Given the description of an element on the screen output the (x, y) to click on. 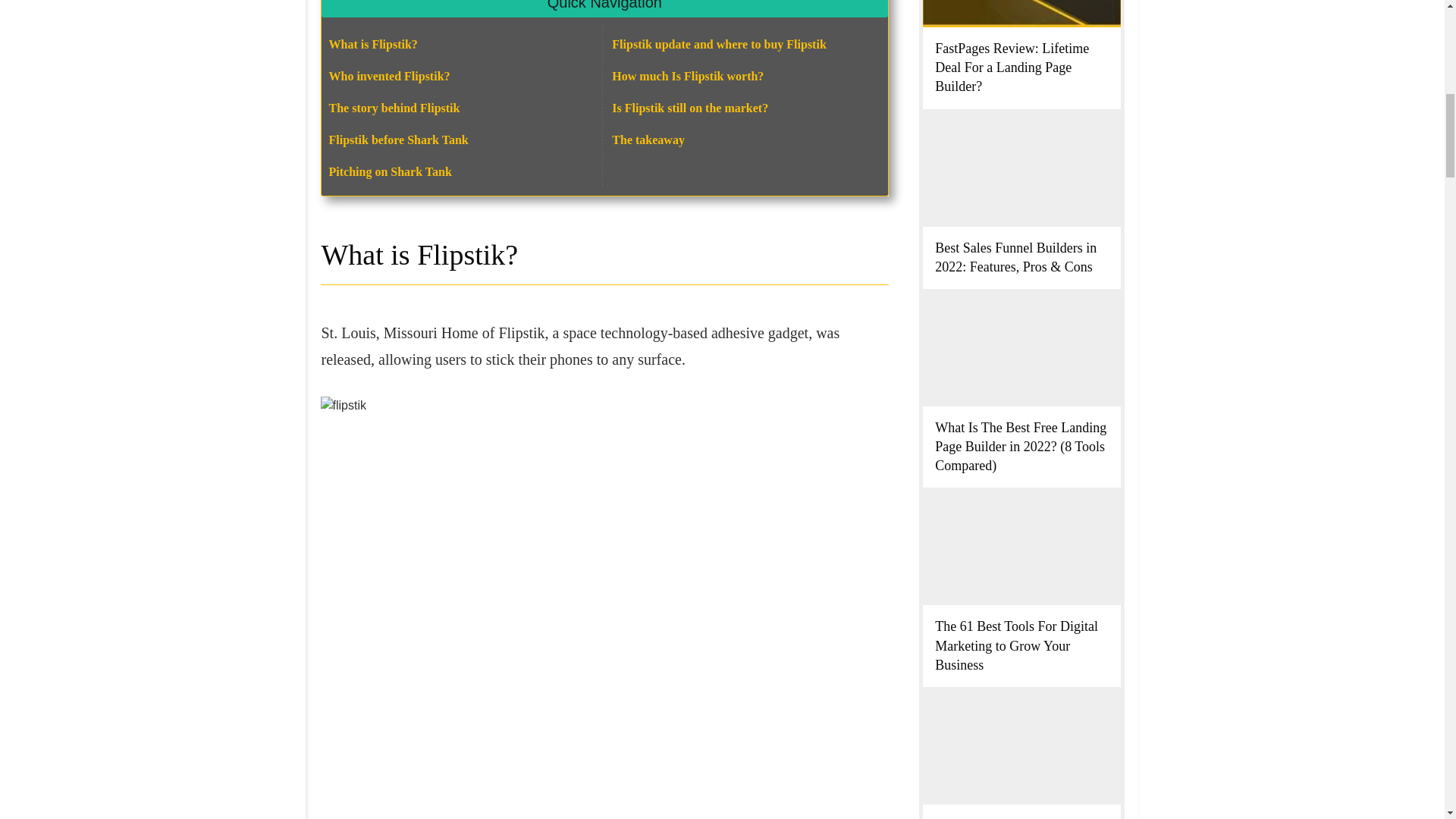
What is Flipstik? (373, 43)
Flipstik update and where to buy Flipstik (718, 43)
FastPages Review: Lifetime Deal For a Landing Page Builder? (1011, 67)
How much Is Flipstik worth? (686, 75)
Flipstik before Shark Tank (398, 139)
The story behind Flipstik (394, 107)
Pitching on Shark Tank (390, 171)
The takeaway (647, 139)
Is Flipstik still on the market? (689, 107)
